Given the description of an element on the screen output the (x, y) to click on. 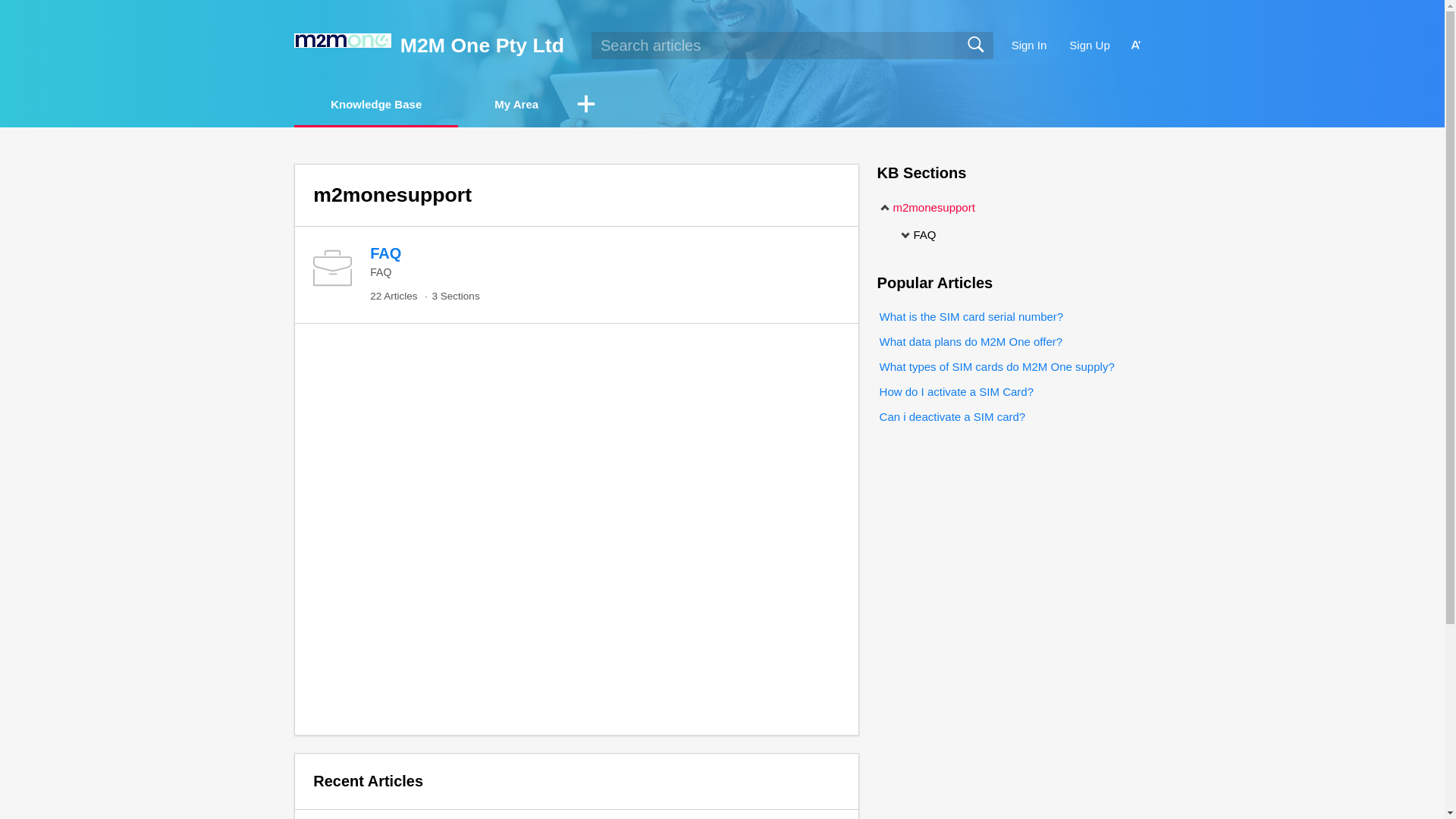
How do I activate a SIM Card? Element type: text (955, 391)
Sign Up Element type: text (1089, 45)
What is the SIM card serial number? Element type: text (970, 316)
What data plans do M2M One offer? Element type: text (970, 341)
Search Element type: hover (975, 44)
Sign In Element type: text (1029, 45)
Can i deactivate a SIM card? Element type: text (951, 416)
FAQ
FAQ
22 Articles 3 Sections Element type: text (575, 274)
Knowledge Base Element type: text (375, 103)
My Area Element type: text (516, 103)
m2monesupport Element type: text (926, 207)
What types of SIM cards do M2M One supply? Element type: text (995, 366)
FAQ Element type: text (916, 234)
